Given the description of an element on the screen output the (x, y) to click on. 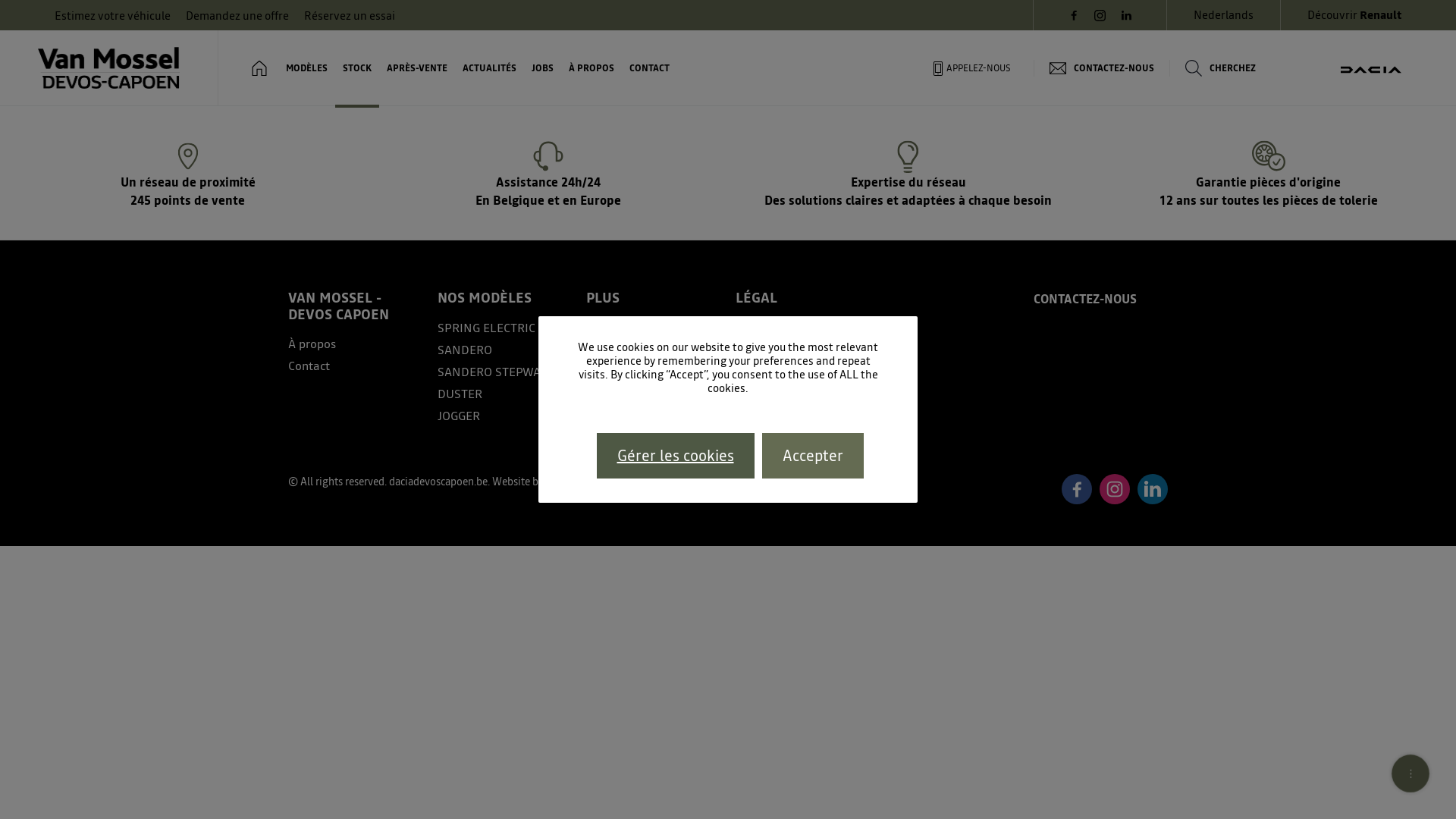
SPRING ELECTRIC Element type: text (504, 327)
JOGGER Element type: text (504, 415)
CONTACT Element type: text (649, 68)
HOME Element type: text (258, 67)
CONTACTEZ-NOUS Element type: text (1101, 67)
Facebook Element type: text (1076, 488)
Assistance 24h/24
En Belgique et en Europe Element type: text (547, 174)
My Dacia Element type: text (653, 393)
SANDERO STEPWAY Element type: text (504, 371)
DUSTER Element type: text (504, 393)
Facebook Element type: text (1073, 14)
Contact Element type: text (355, 365)
Nederlands Element type: text (1223, 15)
Dacia Assistance Element type: text (653, 371)
JOBS Element type: text (542, 68)
LinkedIn Element type: text (1152, 488)
CHERCHEZ Element type: text (1219, 67)
Instagram Element type: text (1099, 14)
STOCK Element type: text (357, 68)
Instagram Element type: text (1114, 488)
LinkedIn Element type: text (1126, 14)
Accepter Element type: text (811, 455)
Configurateur Element type: text (653, 349)
Demandez une offre Element type: text (236, 15)
SANDERO Element type: text (504, 349)
CONTACTEZ-NOUS Element type: text (1084, 298)
